Given the description of an element on the screen output the (x, y) to click on. 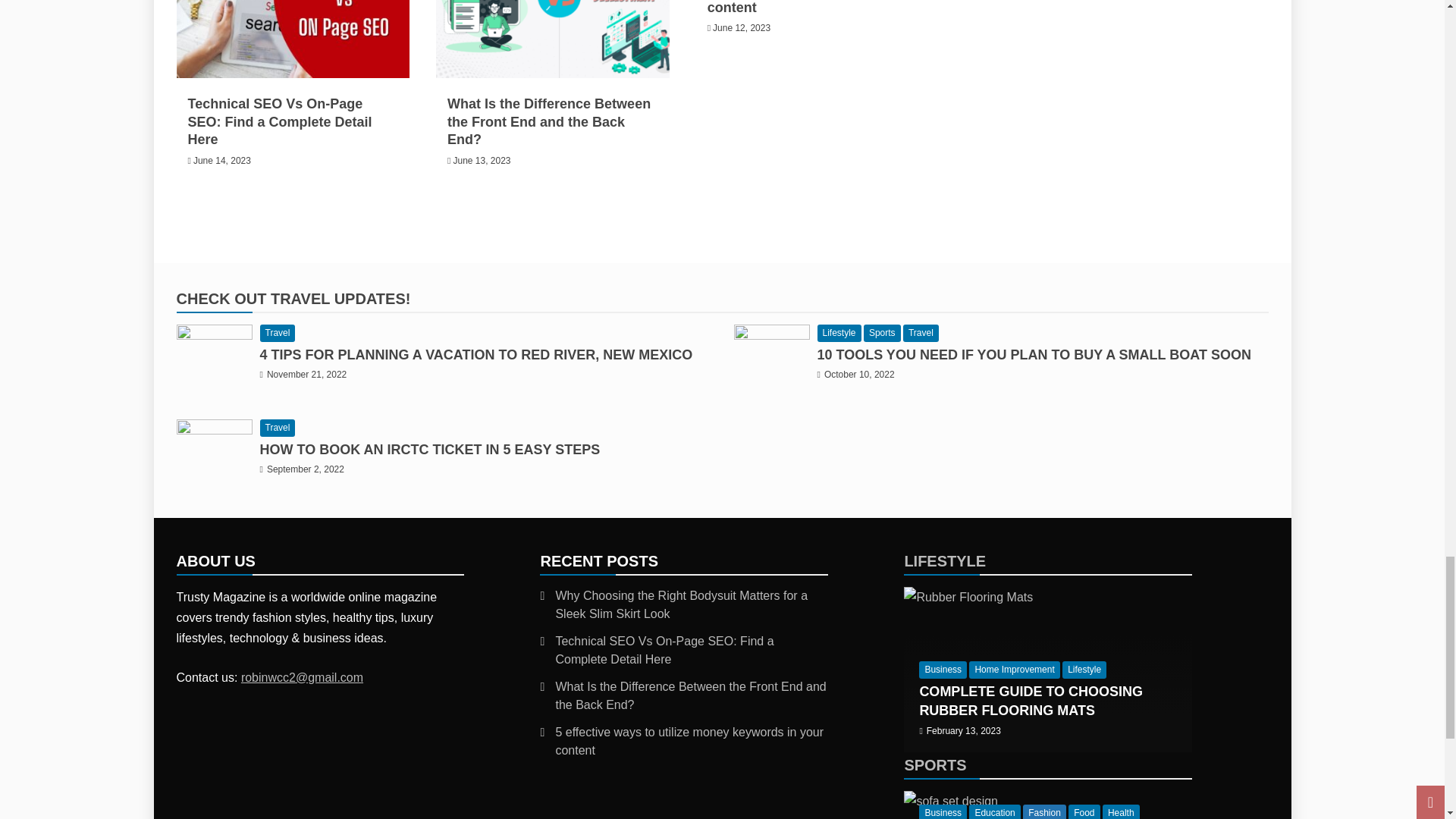
June 14, 2023 (221, 160)
Technical SEO Vs On-Page SEO: Find a Complete Detail Here (279, 121)
